Given the description of an element on the screen output the (x, y) to click on. 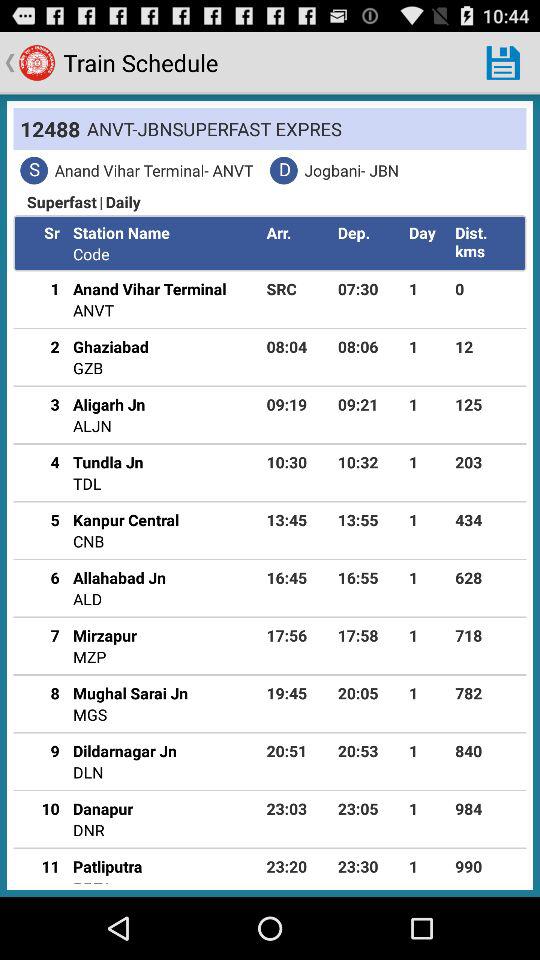
click the app above the 628 icon (487, 519)
